Given the description of an element on the screen output the (x, y) to click on. 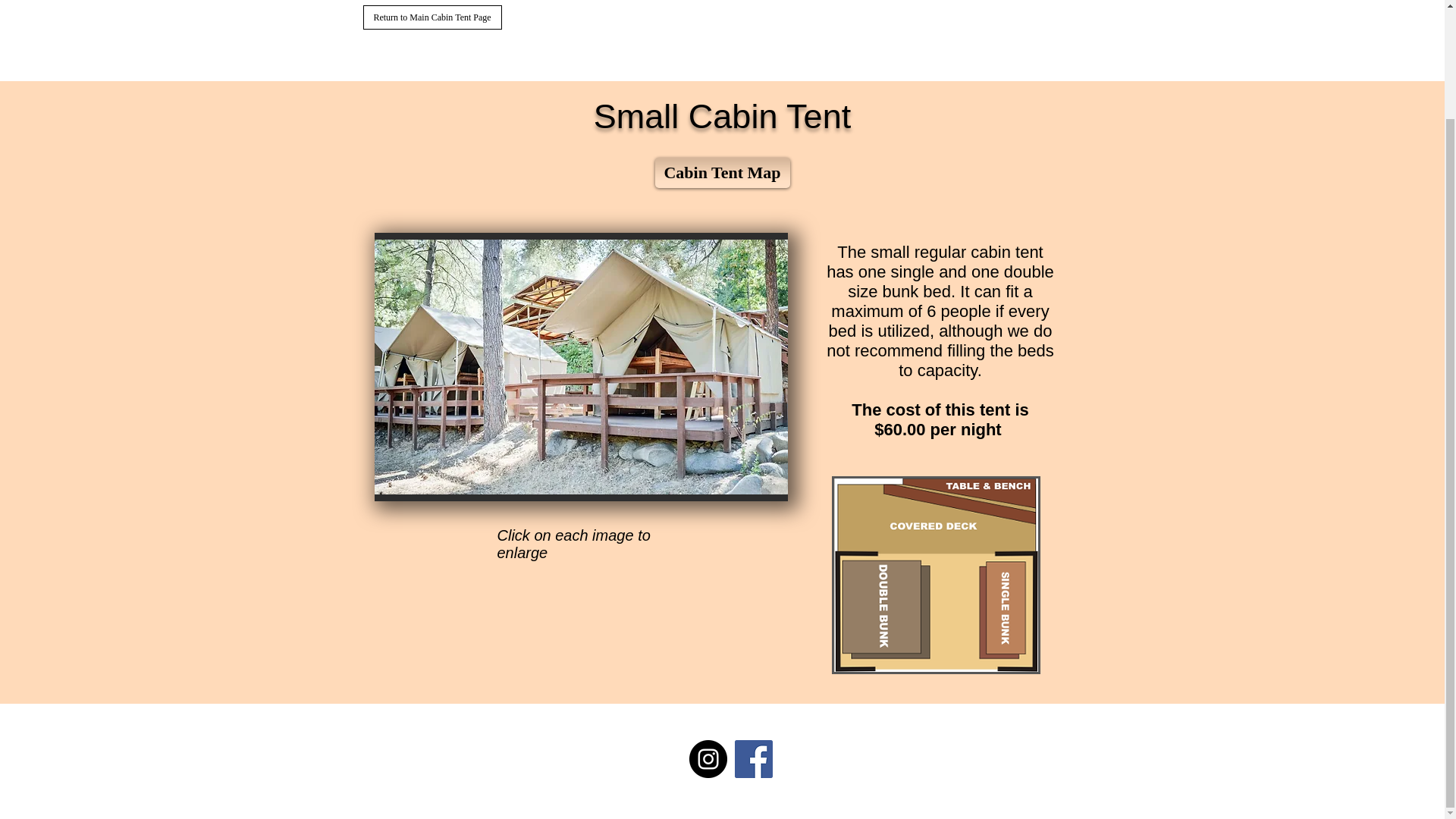
Cabin Tent Map (722, 173)
Return to Main Cabin Tent Page (431, 16)
